Given the description of an element on the screen output the (x, y) to click on. 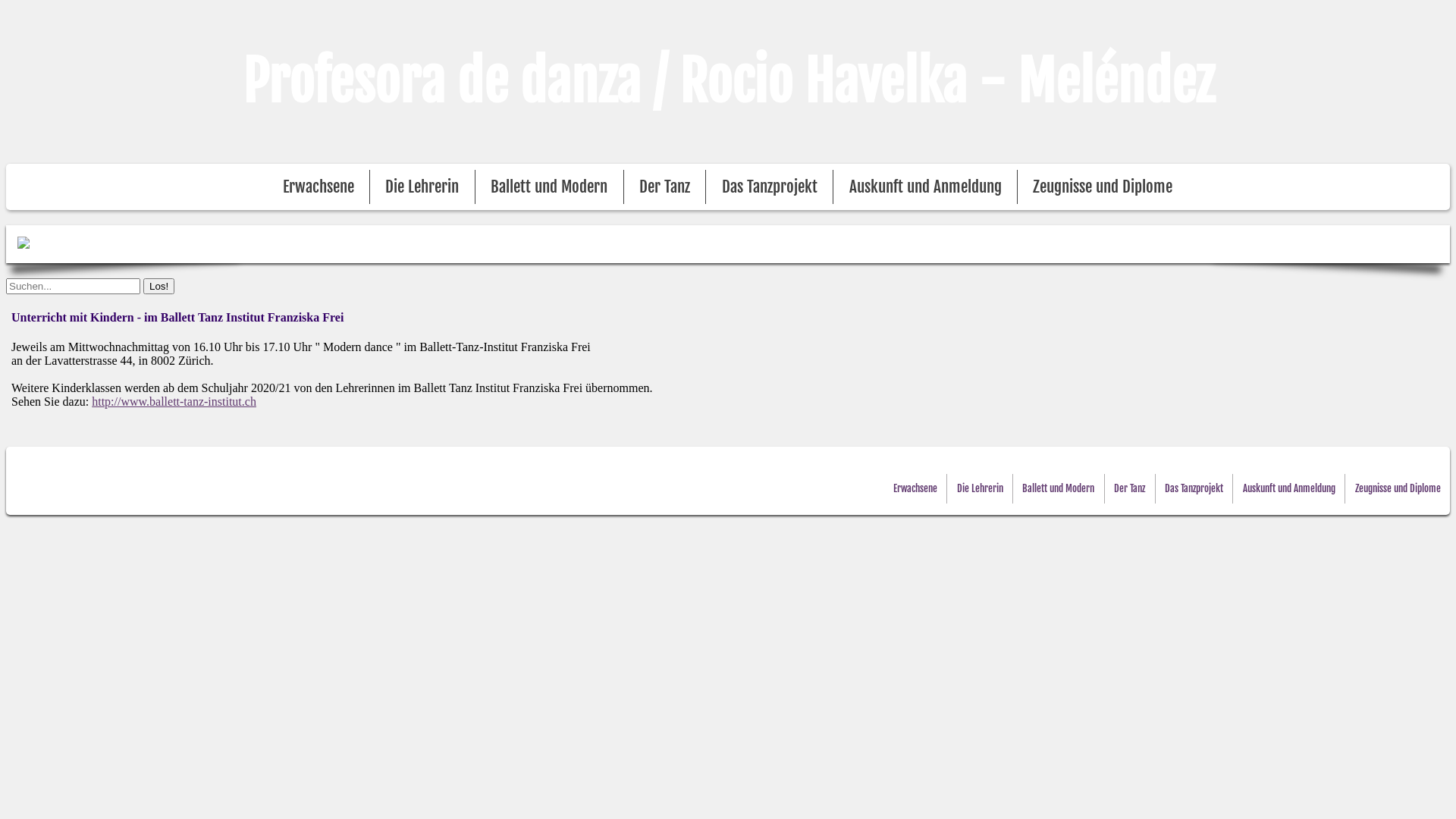
Erwachsene Element type: text (318, 187)
Zeugnisse und Diplome Element type: text (1102, 187)
Das Tanzprojekt Element type: text (769, 187)
http://www.ballett-tanz-institut.ch Element type: text (173, 401)
Der Tanz Element type: text (1129, 488)
Los! Element type: text (158, 286)
Auskunft und Anmeldung Element type: text (1288, 488)
Zeugnisse und Diplome Element type: text (1397, 488)
Ballett und Modern Element type: text (549, 187)
Die Lehrerin Element type: text (979, 488)
Die Lehrerin Element type: text (421, 187)
Das Tanzprojekt Element type: text (1193, 488)
Der Tanz Element type: text (664, 187)
Auskunft und Anmeldung Element type: text (925, 187)
Erwachsene Element type: text (914, 488)
Ballett und Modern Element type: text (1057, 488)
